Given the description of an element on the screen output the (x, y) to click on. 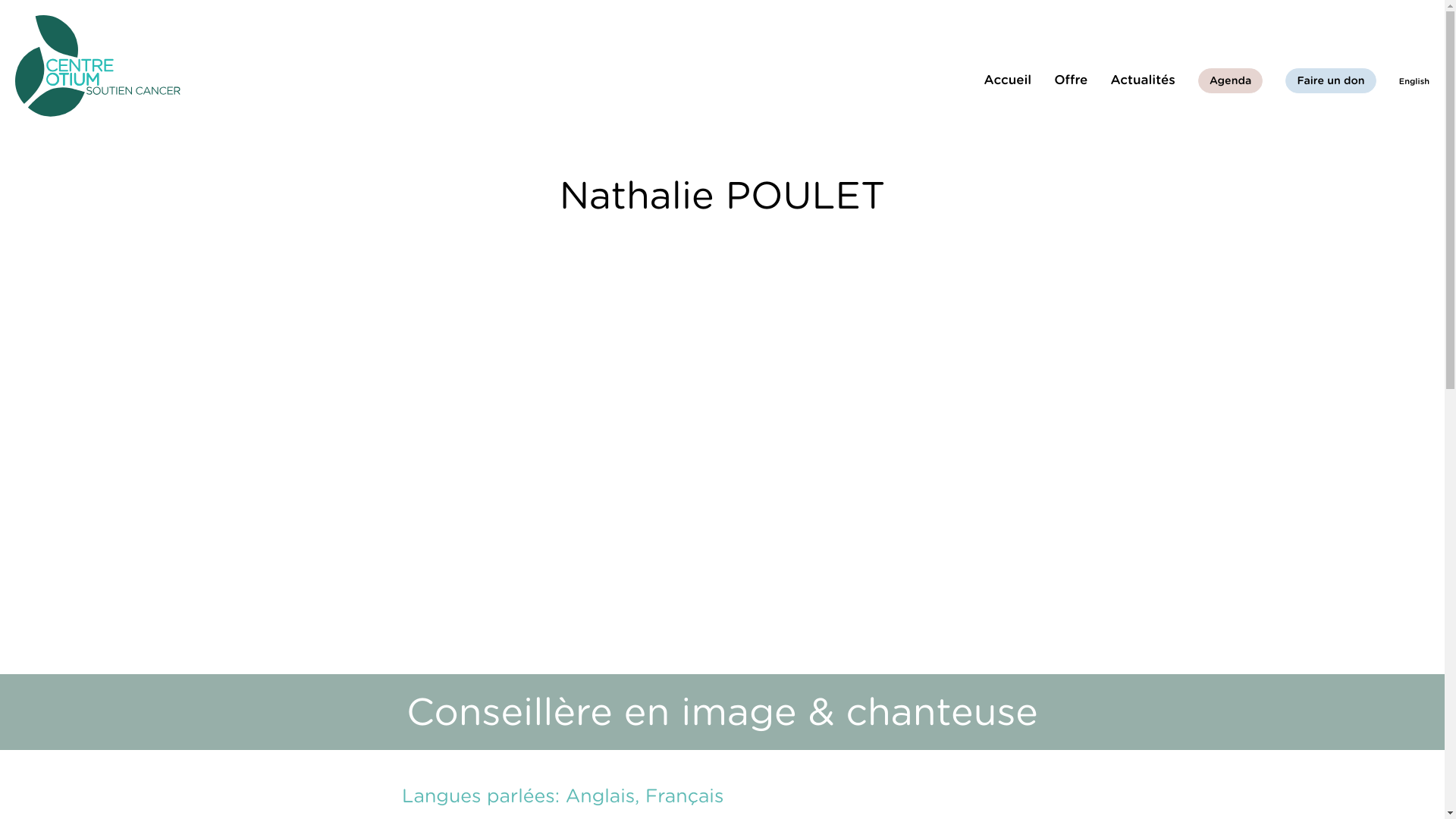
Accueil Element type: text (1008, 81)
Agenda Element type: text (1230, 80)
English Element type: text (1414, 81)
Offre Element type: text (1070, 81)
Otium Centre Element type: text (97, 65)
Faire un don Element type: text (1330, 80)
